Given the description of an element on the screen output the (x, y) to click on. 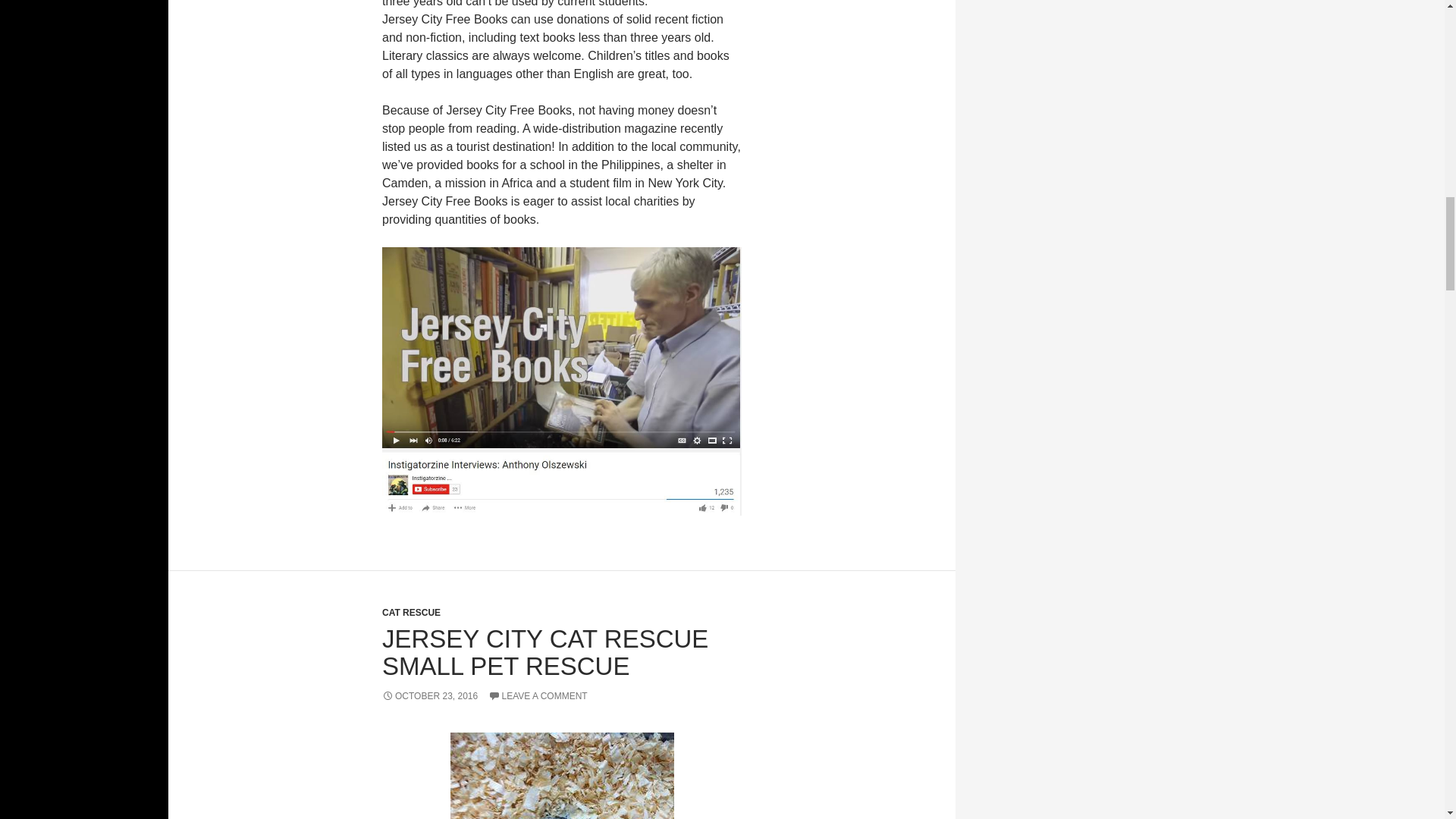
CAT RESCUE (411, 612)
OCTOBER 23, 2016 (429, 696)
JERSEY CITY CAT RESCUE SMALL PET RESCUE (544, 652)
LEAVE A COMMENT (537, 696)
